Given the description of an element on the screen output the (x, y) to click on. 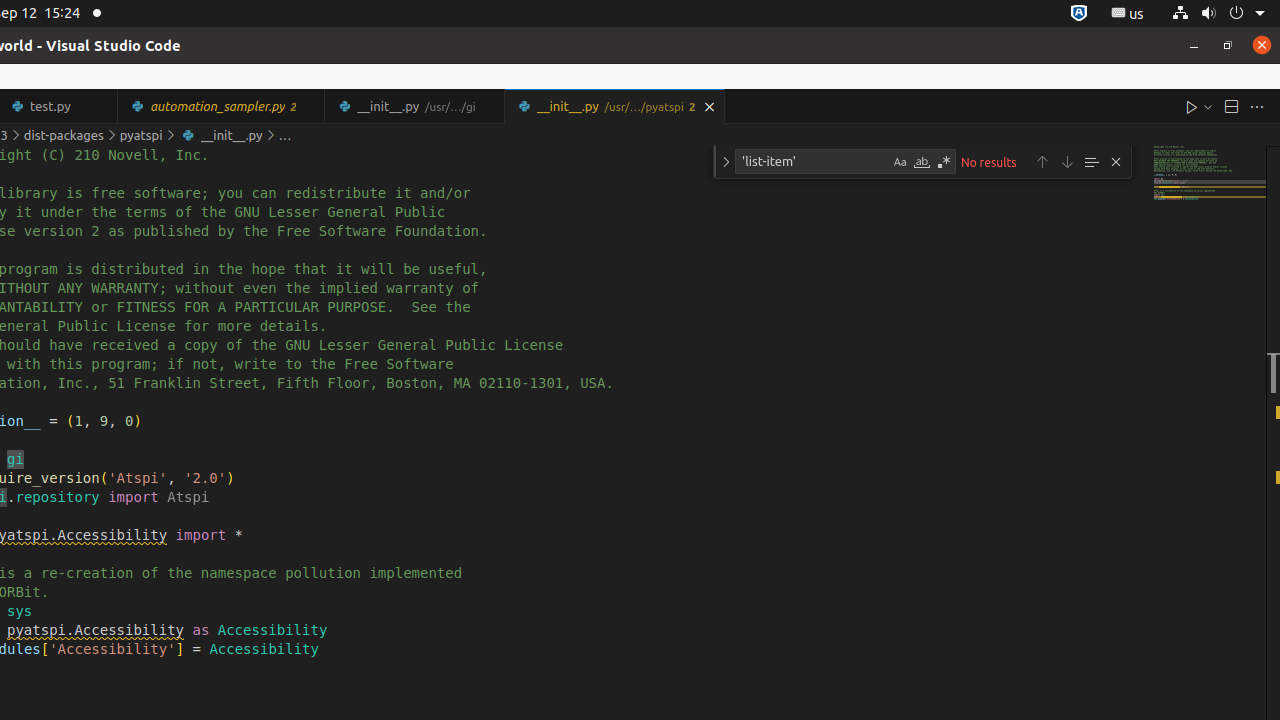
Previous Match (Shift+Enter) Element type: push-button (1042, 161)
Next Match (Enter) Element type: push-button (1067, 161)
Toggle Replace Element type: push-button (726, 162)
Run or Debug... Element type: push-button (1208, 106)
